Given the description of an element on the screen output the (x, y) to click on. 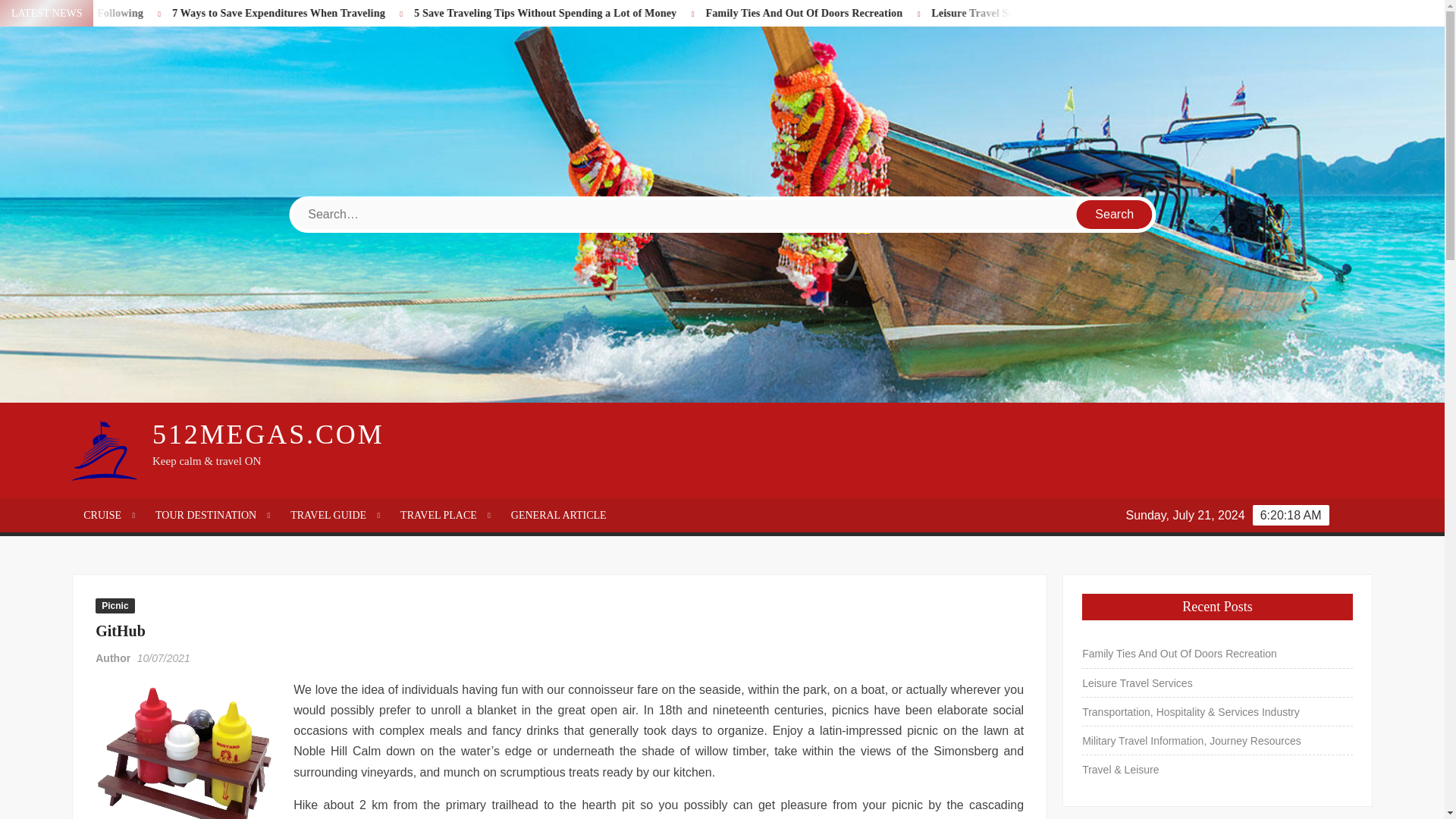
7 Ways to Save Expenditures When Traveling (359, 12)
5 Save Traveling Tips Without Spending a Lot of Money (626, 12)
Want to Vacation with Pets? Consider Some of the Following (121, 12)
Search (1115, 214)
7 Ways to Save Expenditures When Traveling (377, 12)
Family Ties And Out Of Doors Recreation (900, 12)
5 Save Traveling Tips Without Spending a Lot of Money (642, 12)
Search (1115, 214)
Family Ties And Out Of Doors Recreation (881, 12)
Want to Vacation with Pets? Consider Some of the Following (113, 12)
Leisure Travel Services (1061, 12)
